Given the description of an element on the screen output the (x, y) to click on. 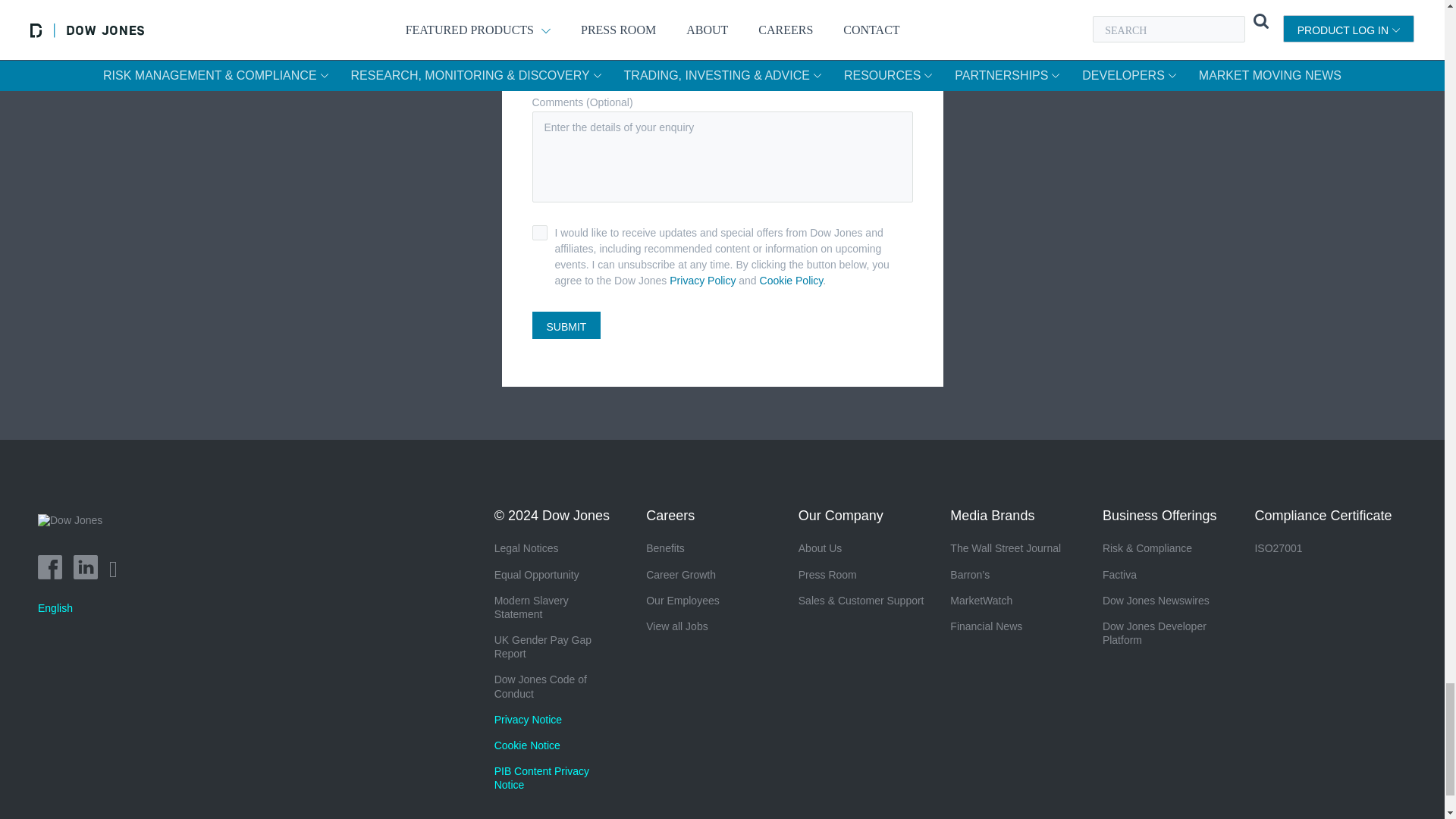
Newscorp (75, 531)
Submit (566, 325)
